Given the description of an element on the screen output the (x, y) to click on. 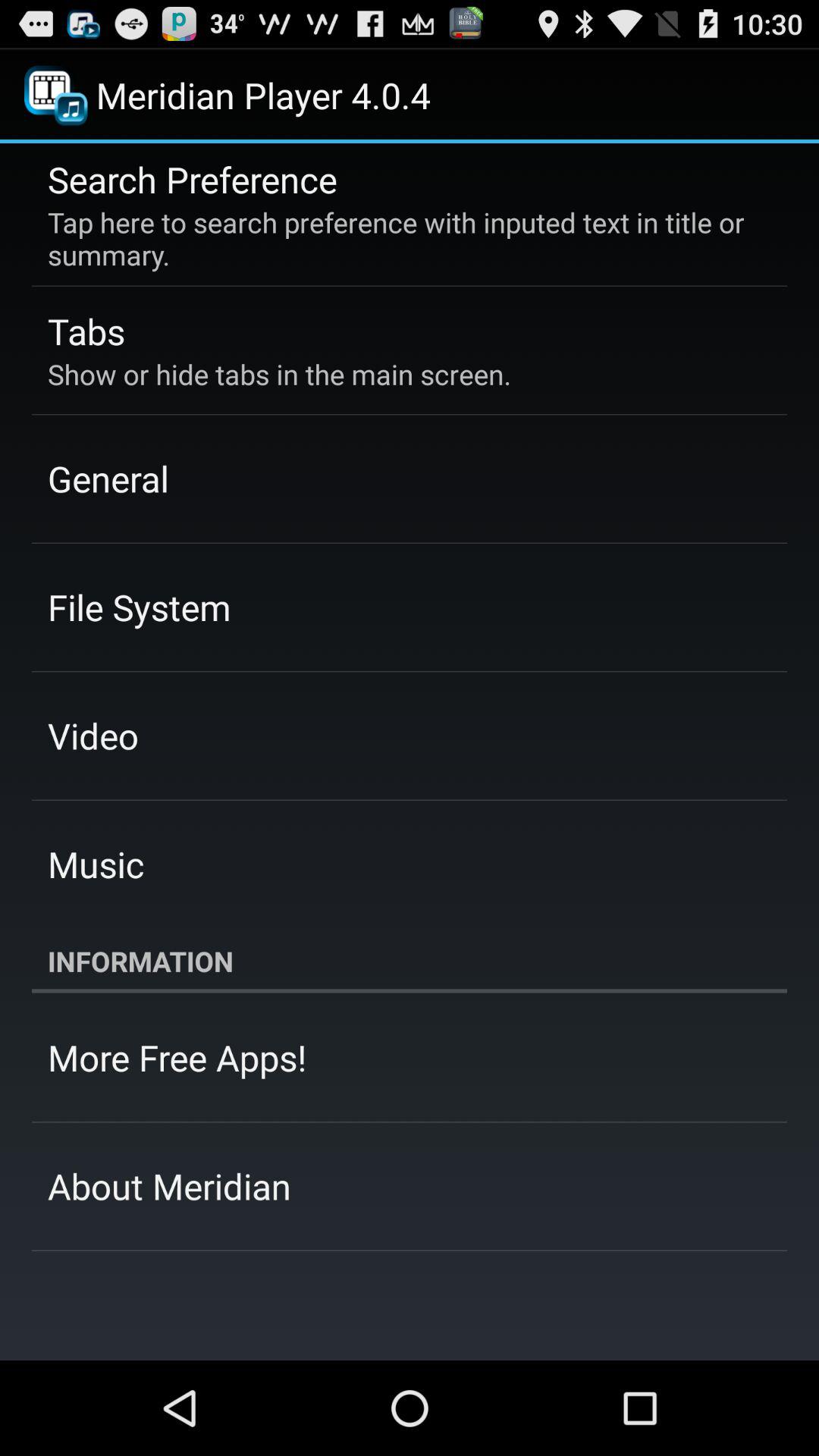
press the app above the general item (279, 374)
